Given the description of an element on the screen output the (x, y) to click on. 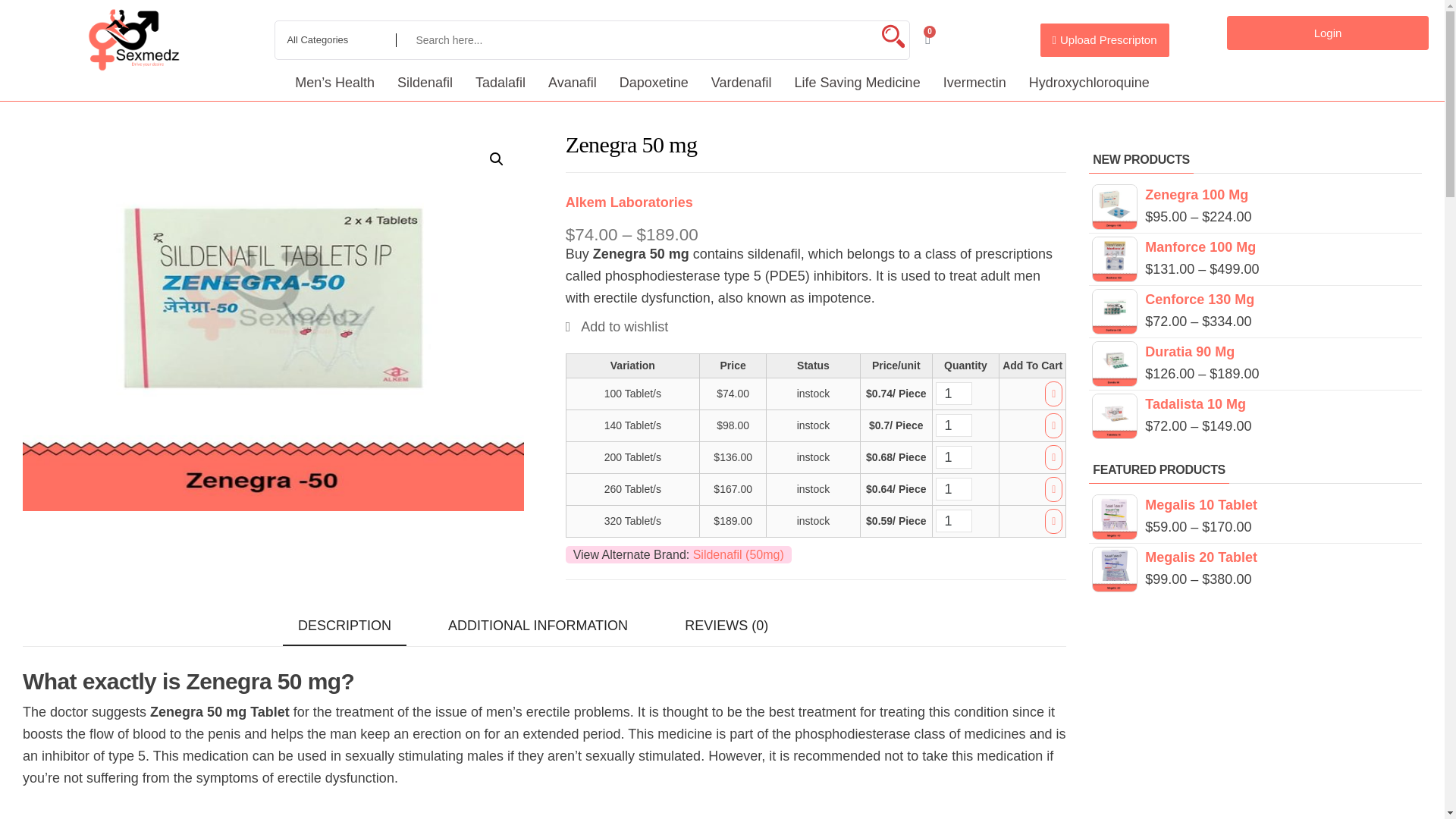
Upload Prescripton (1105, 39)
1 (954, 393)
Add to wishlist (617, 326)
Dapoxetine (654, 82)
Avanafil (572, 82)
Sildenafil (424, 82)
Tadalafil (500, 82)
1 (954, 456)
Life Saving Medicine (857, 82)
Alkem Laboratories (629, 201)
1 (954, 488)
Login (1327, 32)
1 (954, 425)
Vardenafil (741, 82)
